Given the description of an element on the screen output the (x, y) to click on. 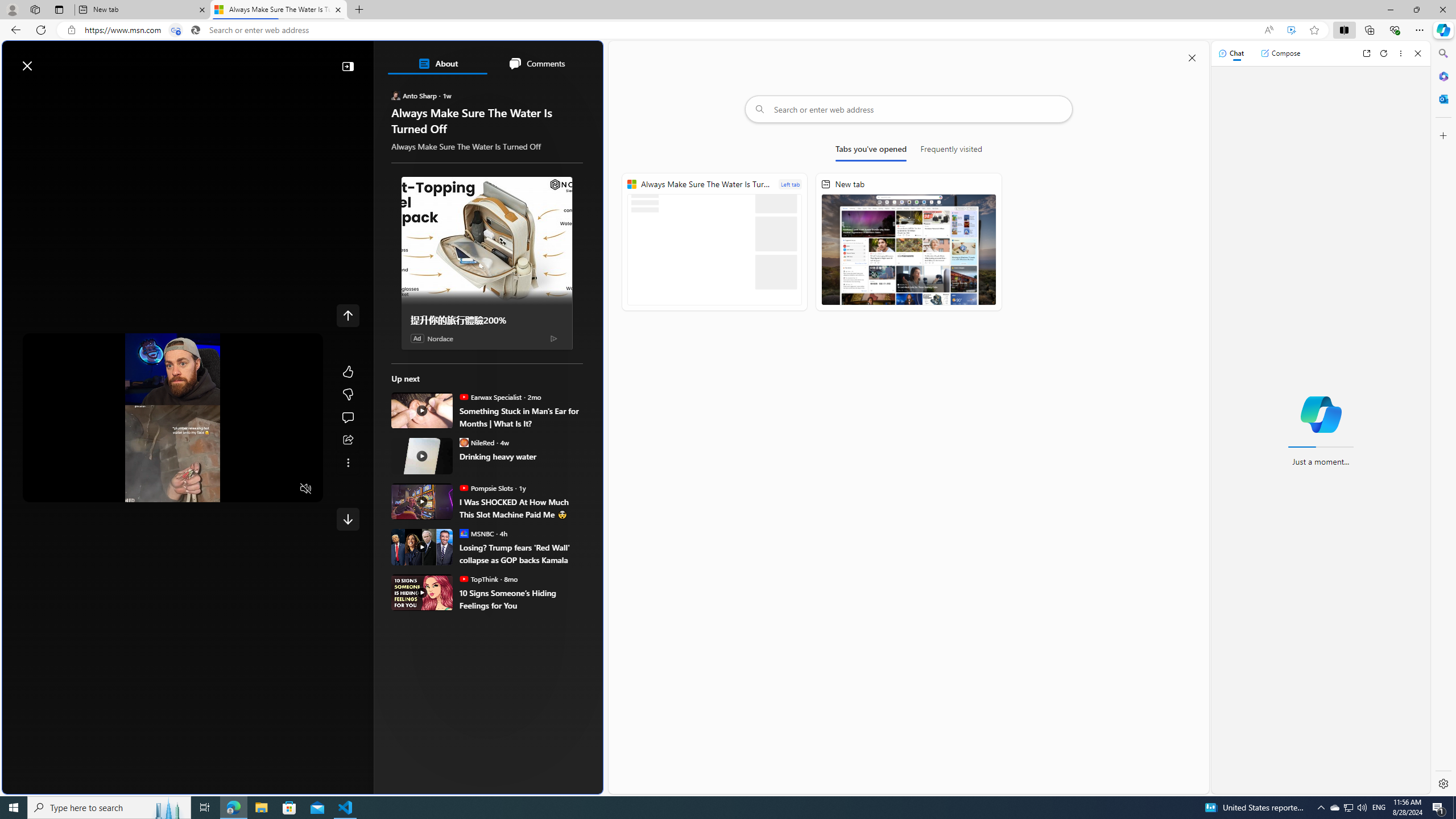
TopThink TopThink (479, 578)
Always Make Sure The Water Is Turned Off (714, 242)
Side bar (1443, 418)
Drinking heavy water (521, 456)
Search icon (195, 29)
Outlook (1442, 98)
Chat (1231, 52)
Compose (1280, 52)
TopThink (464, 578)
